Given the description of an element on the screen output the (x, y) to click on. 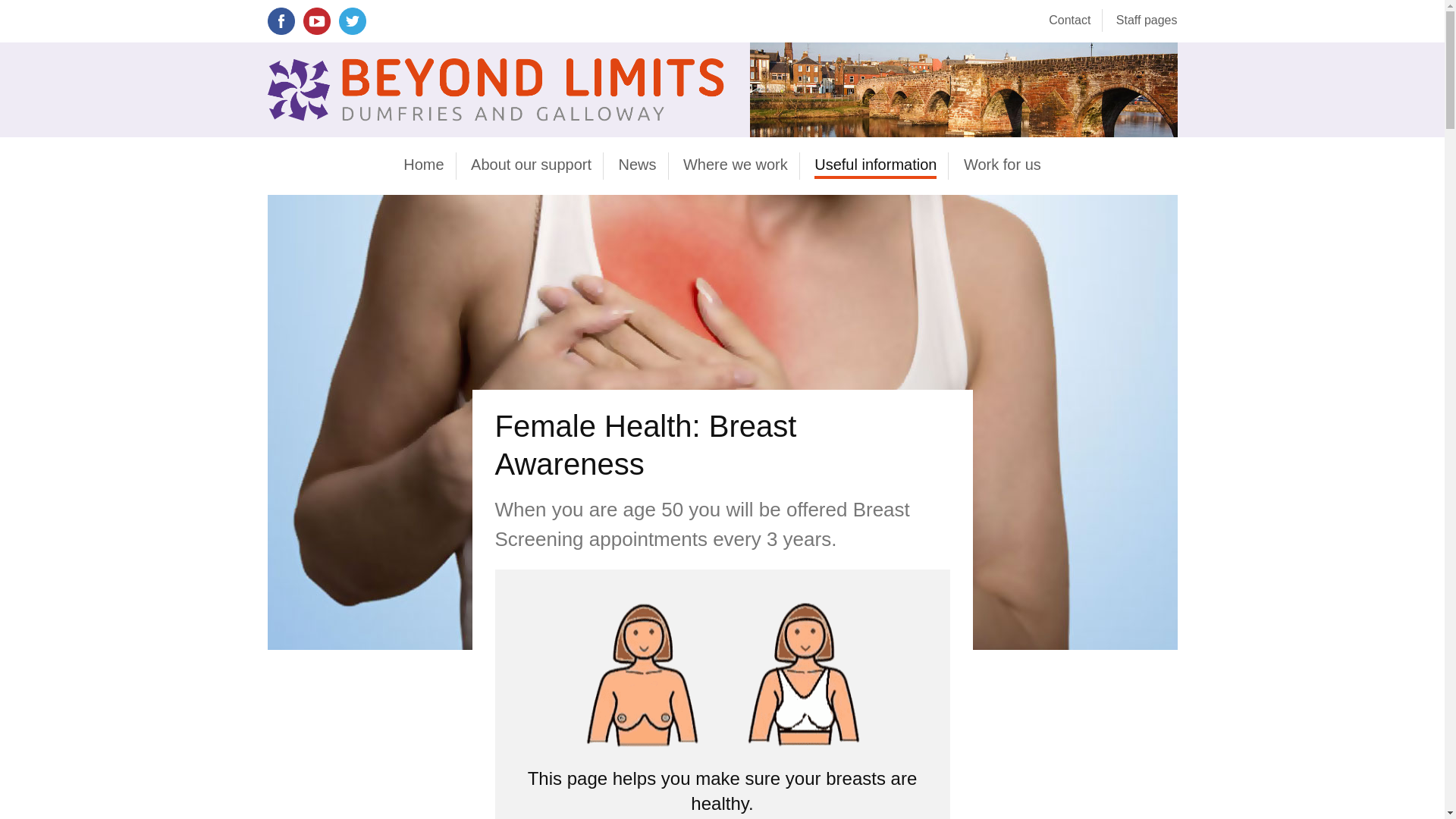
News (637, 166)
Where we work (734, 166)
About our support (530, 166)
Useful information (874, 166)
Work for us (1002, 166)
Staff pages (1146, 19)
Contact (1069, 19)
Home (423, 166)
